Given the description of an element on the screen output the (x, y) to click on. 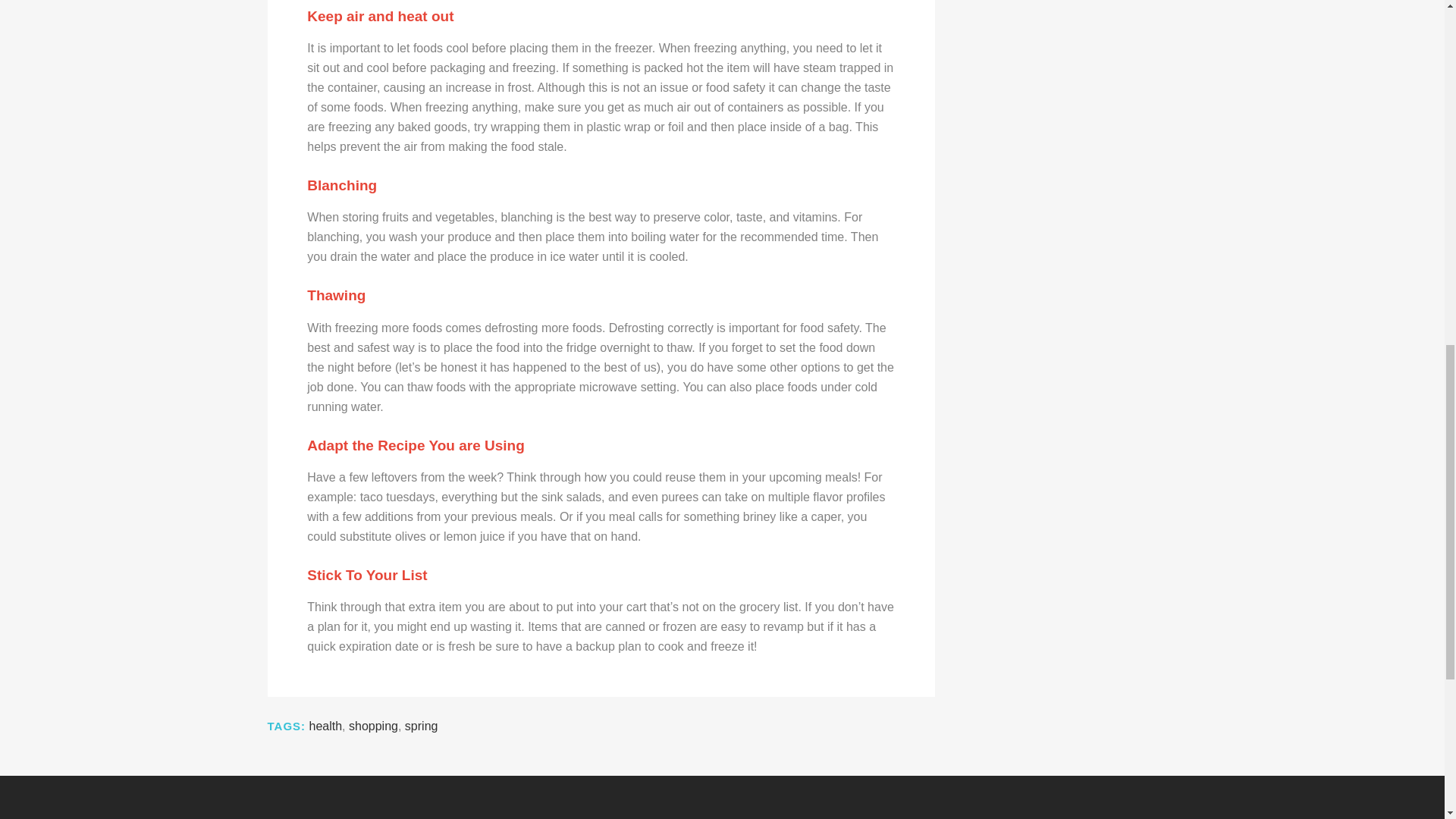
health (325, 725)
shopping (373, 725)
spring (421, 725)
